Given the description of an element on the screen output the (x, y) to click on. 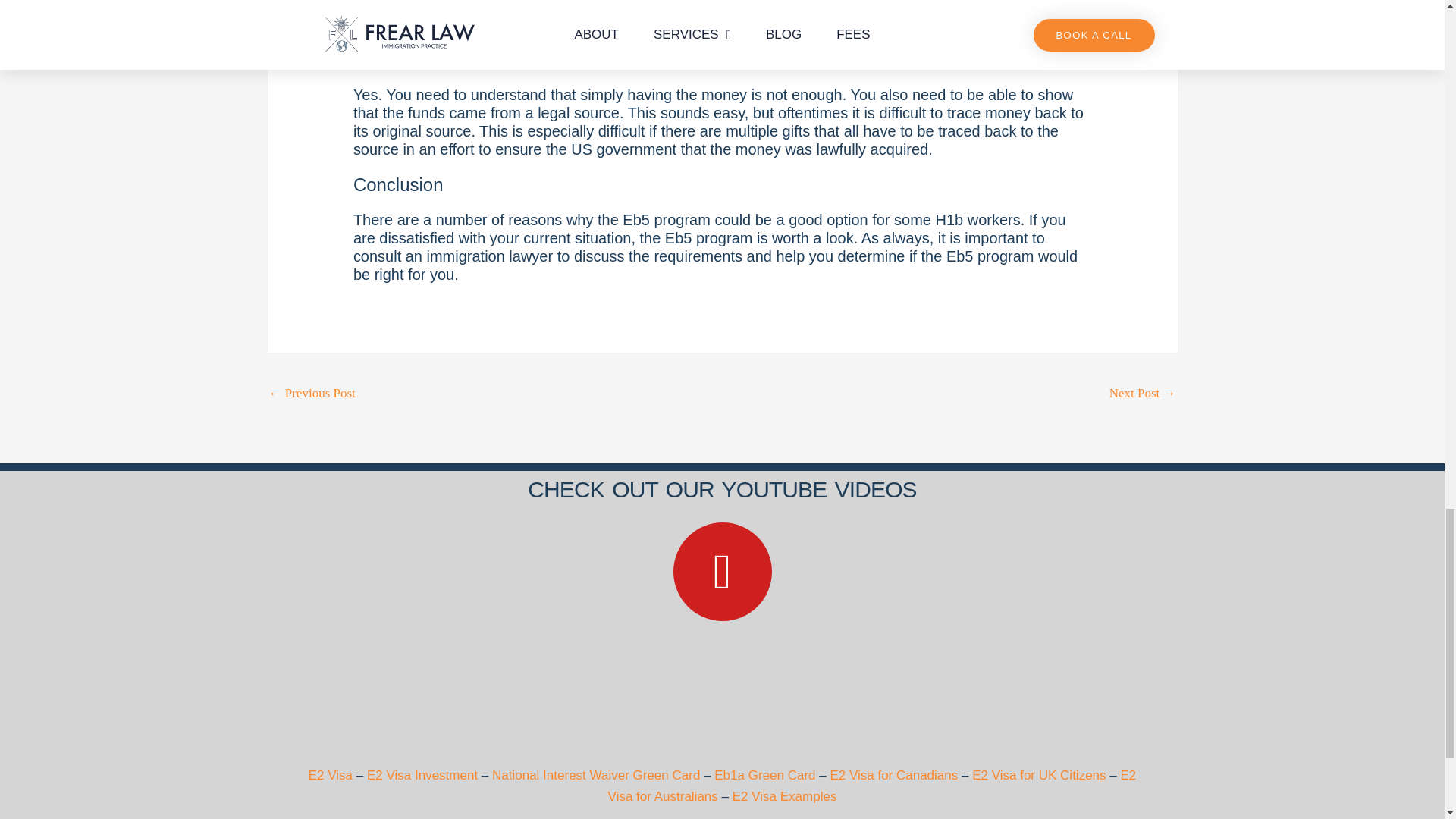
Three Common Paths to a US Green Card (1142, 395)
E2 Visa Investment (423, 775)
popular e2 visa GUIDES (721, 693)
Youtube (721, 571)
Going from DACA to Green Card Status (311, 395)
National Interest Waiver Green Card (596, 775)
E2 Visa (332, 775)
Eb1a Green Card (764, 775)
